Given the description of an element on the screen output the (x, y) to click on. 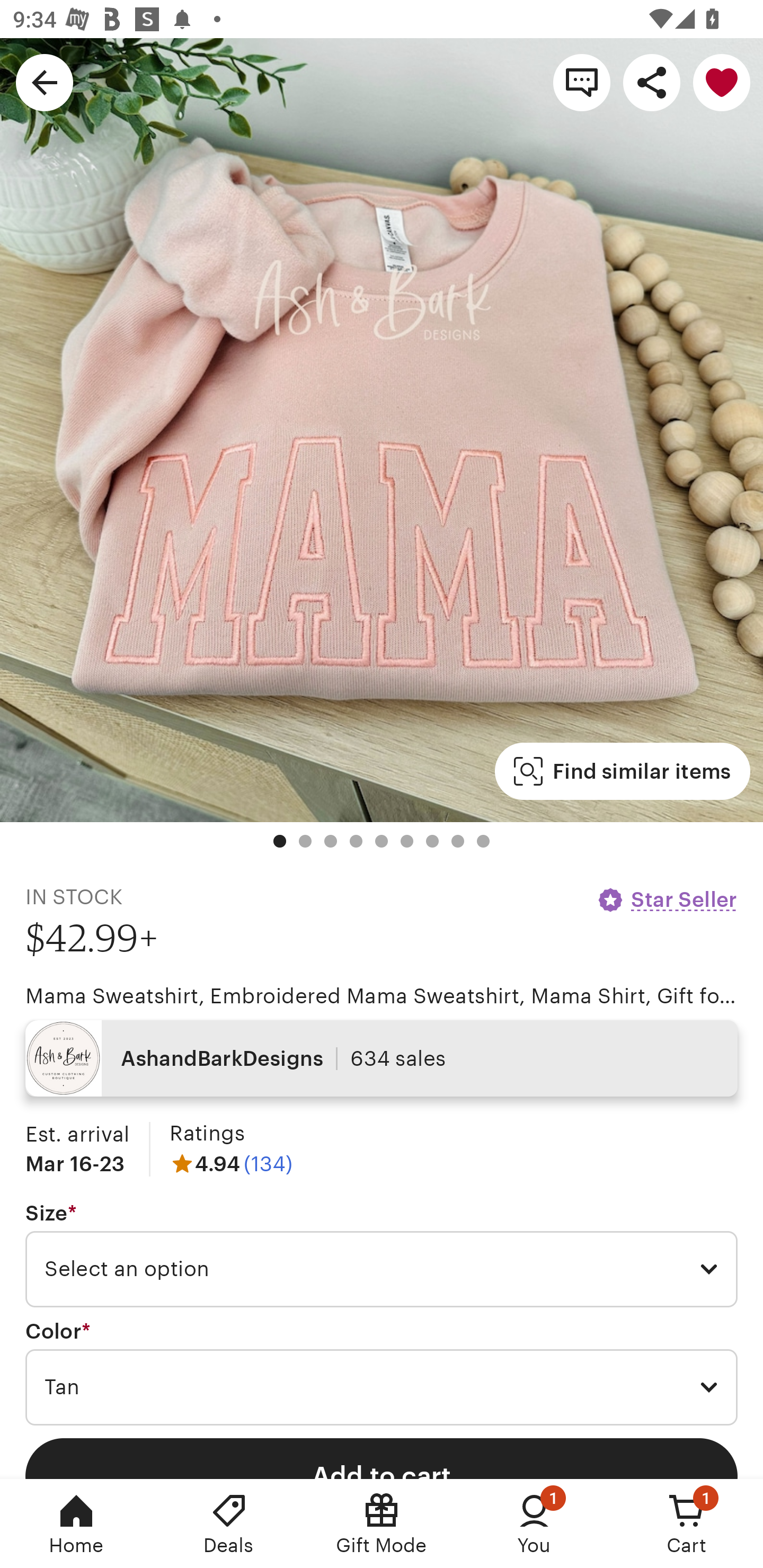
Navigate up (44, 81)
Contact shop (581, 81)
Share (651, 81)
Find similar items (622, 771)
Star Seller (666, 899)
AshandBarkDesigns 634 sales (381, 1058)
Ratings (206, 1133)
4.94 (134) (230, 1163)
Size * Required Select an option (381, 1254)
Select an option (381, 1268)
Color * Required Tan (381, 1372)
Tan (381, 1386)
Deals (228, 1523)
Gift Mode (381, 1523)
You, 1 new notification You (533, 1523)
Cart, 1 new notification Cart (686, 1523)
